Given the description of an element on the screen output the (x, y) to click on. 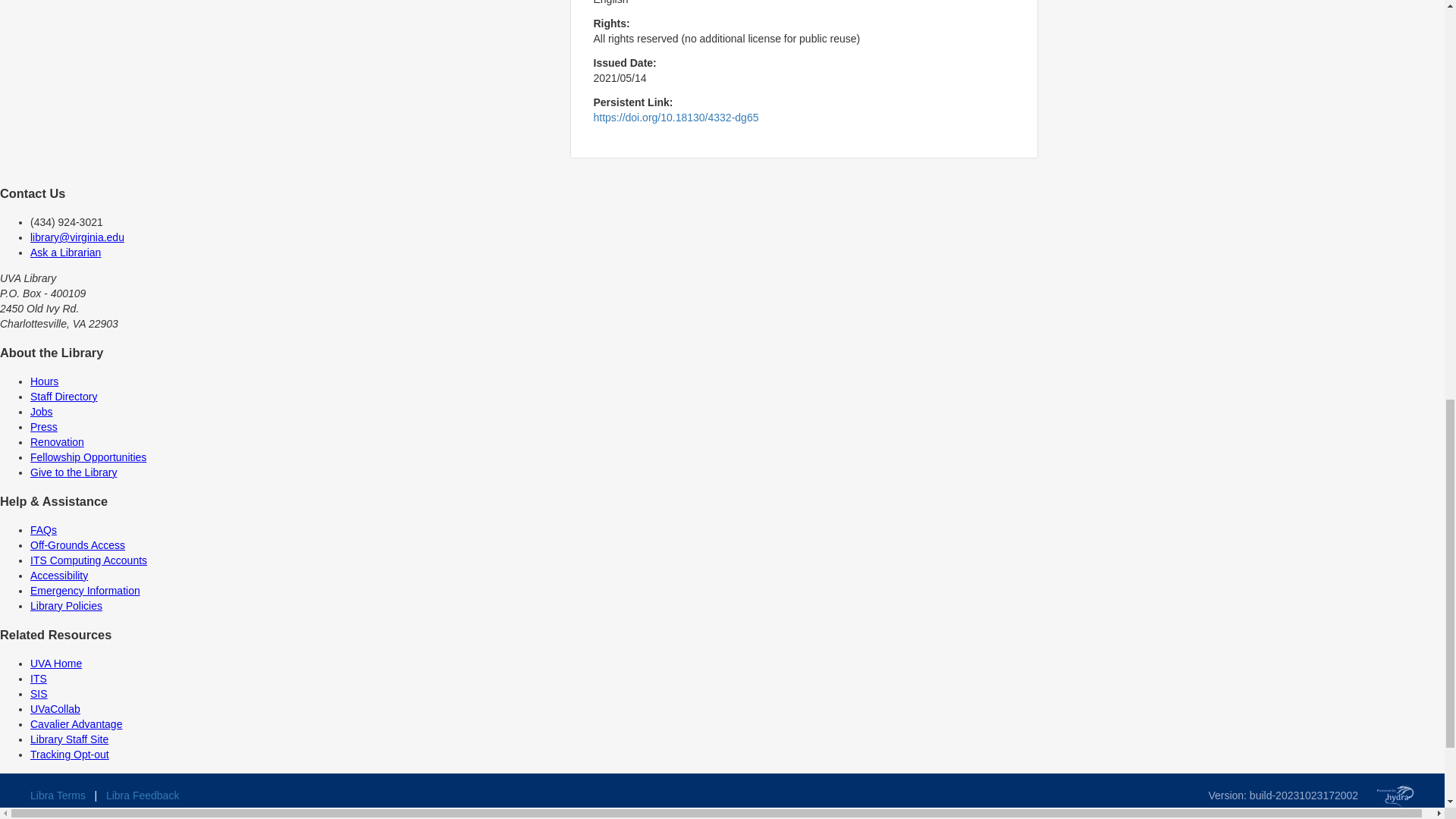
Libra Terms (57, 795)
Libra Feedback (142, 795)
